Given the description of an element on the screen output the (x, y) to click on. 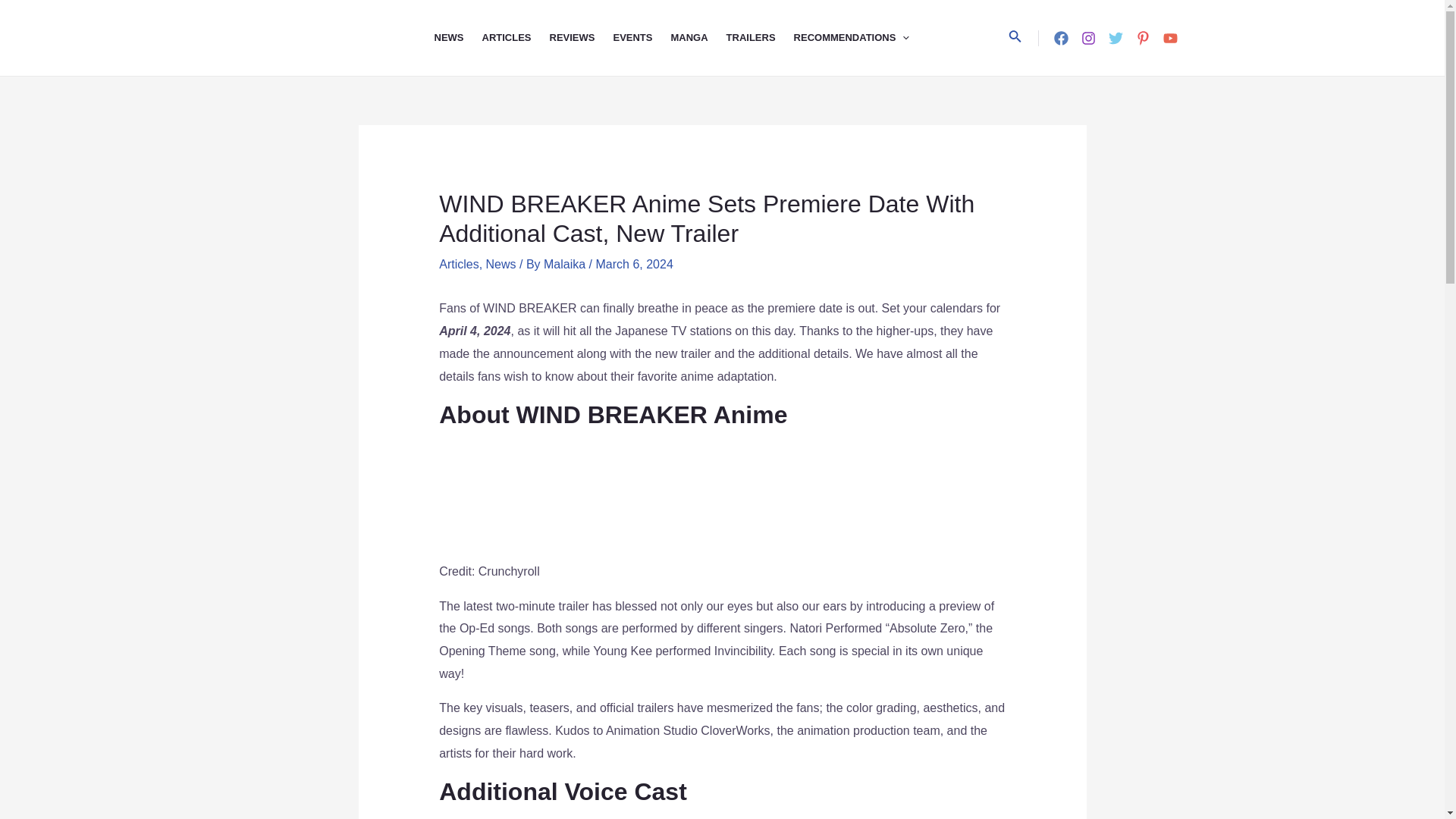
RECOMMENDATIONS (860, 38)
Articles (459, 264)
View all posts by Malaika (566, 264)
TRAILERS (759, 38)
News (501, 264)
ARTICLES (515, 38)
Malaika (566, 264)
